Given the description of an element on the screen output the (x, y) to click on. 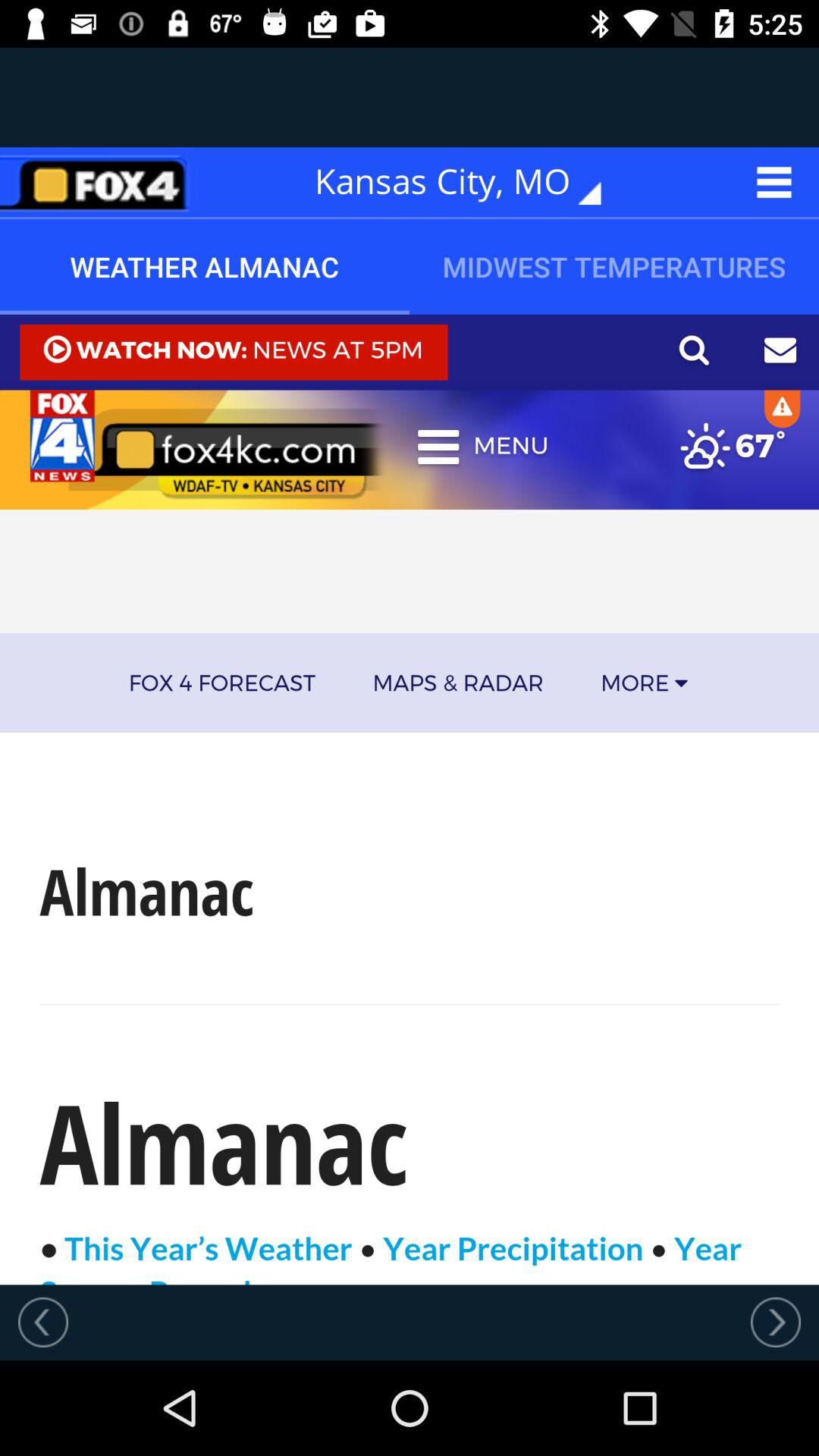
go to previous (43, 1322)
